Given the description of an element on the screen output the (x, y) to click on. 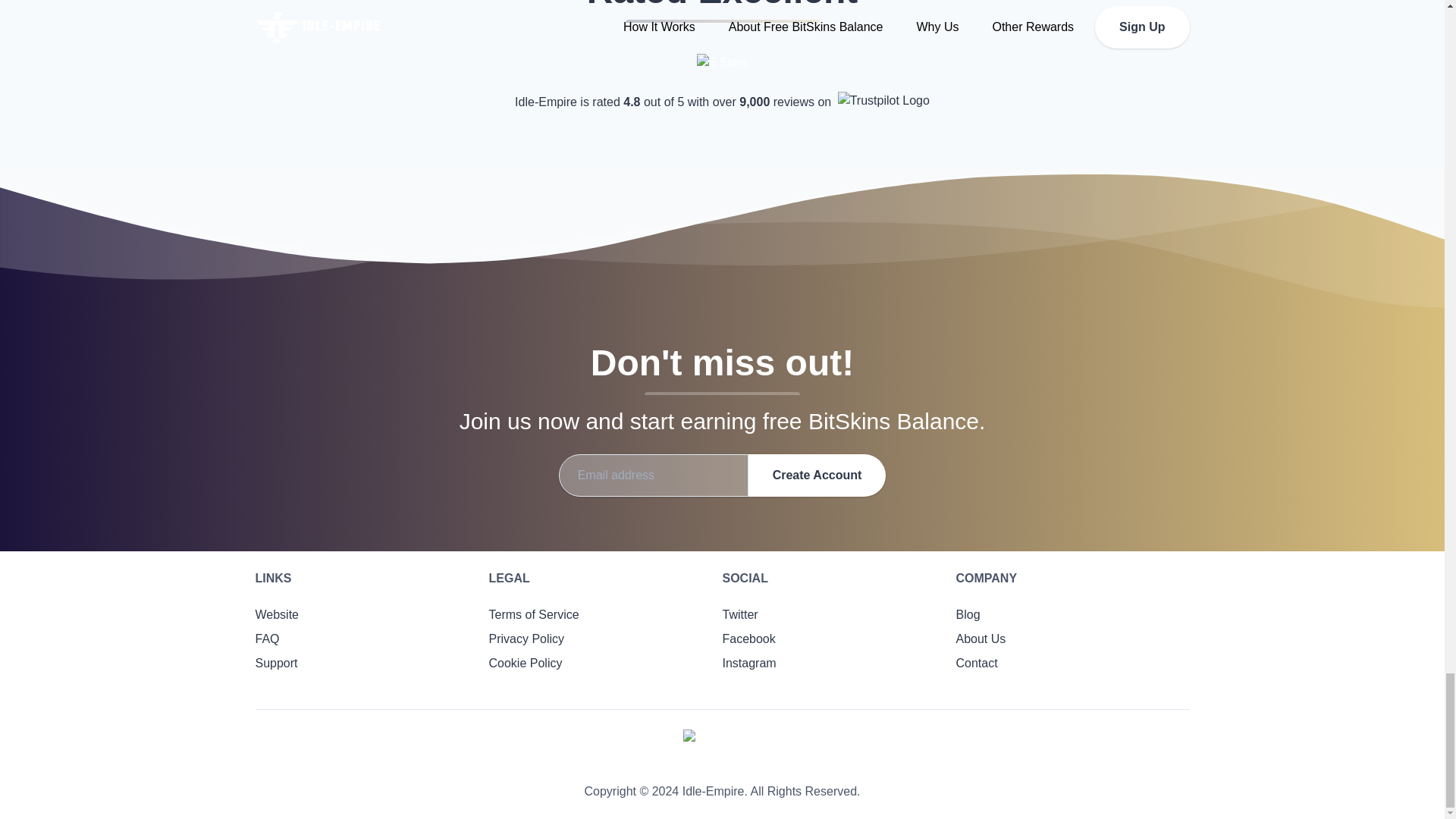
Support (275, 662)
Create Account (817, 475)
Terms of Service (532, 614)
Instagram (749, 662)
About Us (980, 638)
Privacy Policy (525, 638)
Cookie Policy (524, 662)
Twitter (739, 614)
Website (276, 614)
Blog (967, 614)
